Given the description of an element on the screen output the (x, y) to click on. 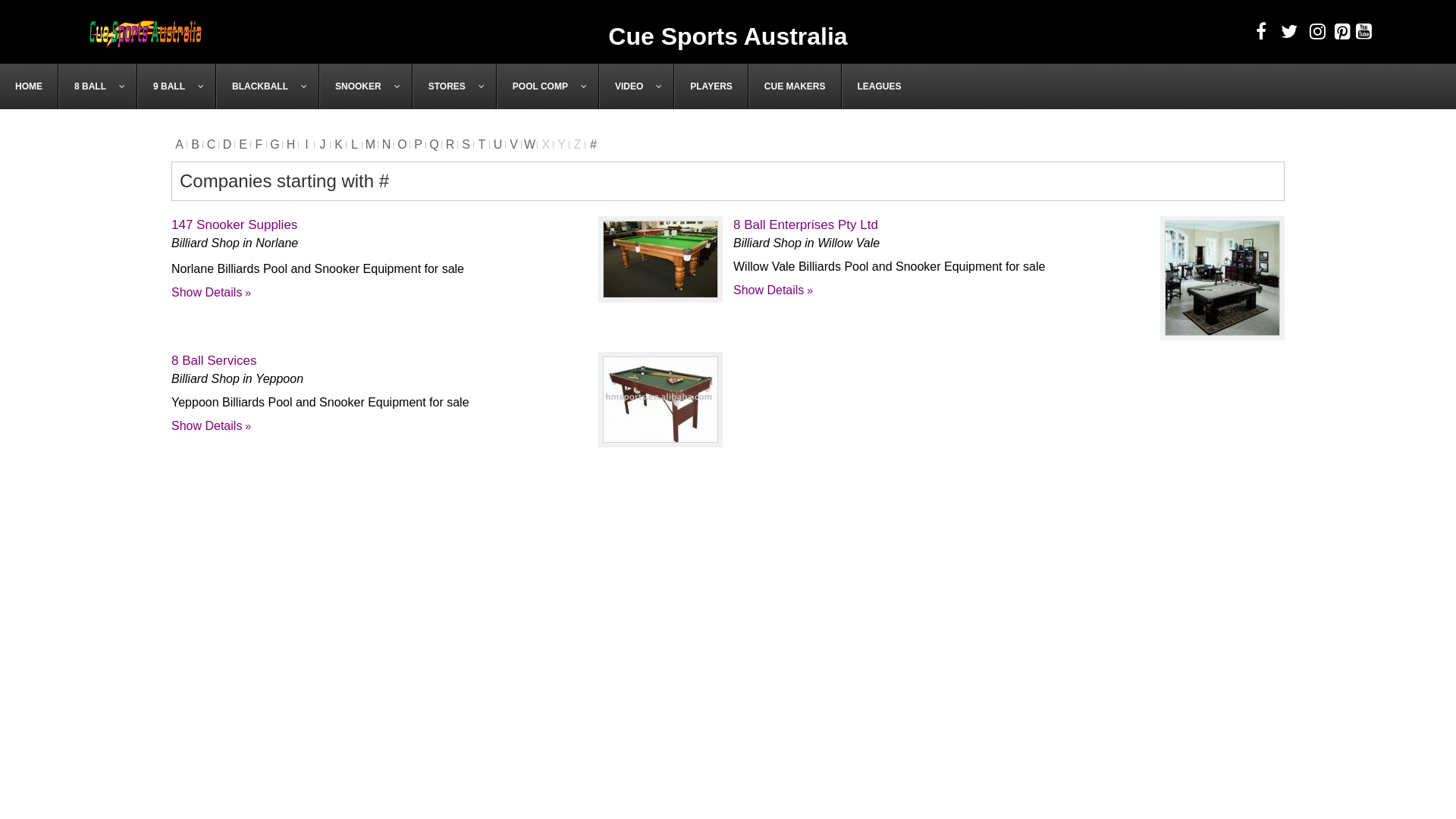
8 Ball Services Element type: hover (660, 399)
P Element type: text (418, 143)
D Element type: text (227, 143)
Show Details Element type: text (211, 425)
F Element type: text (258, 143)
BLACKBALL Element type: text (267, 86)
O Element type: text (402, 143)
R Element type: text (450, 143)
8 Ball Enterprises Pty Ltd Element type: text (805, 224)
E Element type: text (243, 143)
8 BALL Element type: text (97, 86)
T Element type: text (481, 143)
STORES Element type: text (454, 86)
S Element type: text (465, 143)
8 Ball Services Element type: text (213, 360)
N Element type: text (386, 143)
SNOOKER Element type: text (365, 86)
Q Element type: text (434, 143)
K Element type: text (338, 143)
# Element type: text (593, 143)
M Element type: text (370, 143)
A Element type: text (179, 143)
B Element type: text (195, 143)
Show Details Element type: text (772, 289)
147 Snooker Supplies Element type: hover (660, 259)
CUE MAKERS Element type: text (794, 86)
LEAGUES Element type: text (878, 86)
8 Ball Services Element type: hover (660, 399)
9 BALL Element type: text (176, 86)
J Element type: text (322, 143)
L Element type: text (354, 143)
H Element type: text (290, 143)
PLAYERS Element type: text (711, 86)
HOME Element type: text (29, 86)
V Element type: text (513, 143)
U Element type: text (497, 143)
W Element type: text (529, 143)
VIDEO Element type: text (636, 86)
8 Ball Enterprises Pty Ltd Element type: hover (1222, 277)
Show Details Element type: text (211, 291)
G Element type: text (274, 143)
I Element type: text (306, 143)
147 Snooker Supplies Element type: text (234, 224)
C Element type: text (211, 143)
POOL COMP Element type: text (547, 86)
8 Ball Enterprises Pty Ltd Element type: hover (1222, 278)
147 Snooker Supplies Element type: hover (660, 259)
csa Element type: hover (145, 31)
